Given the description of an element on the screen output the (x, y) to click on. 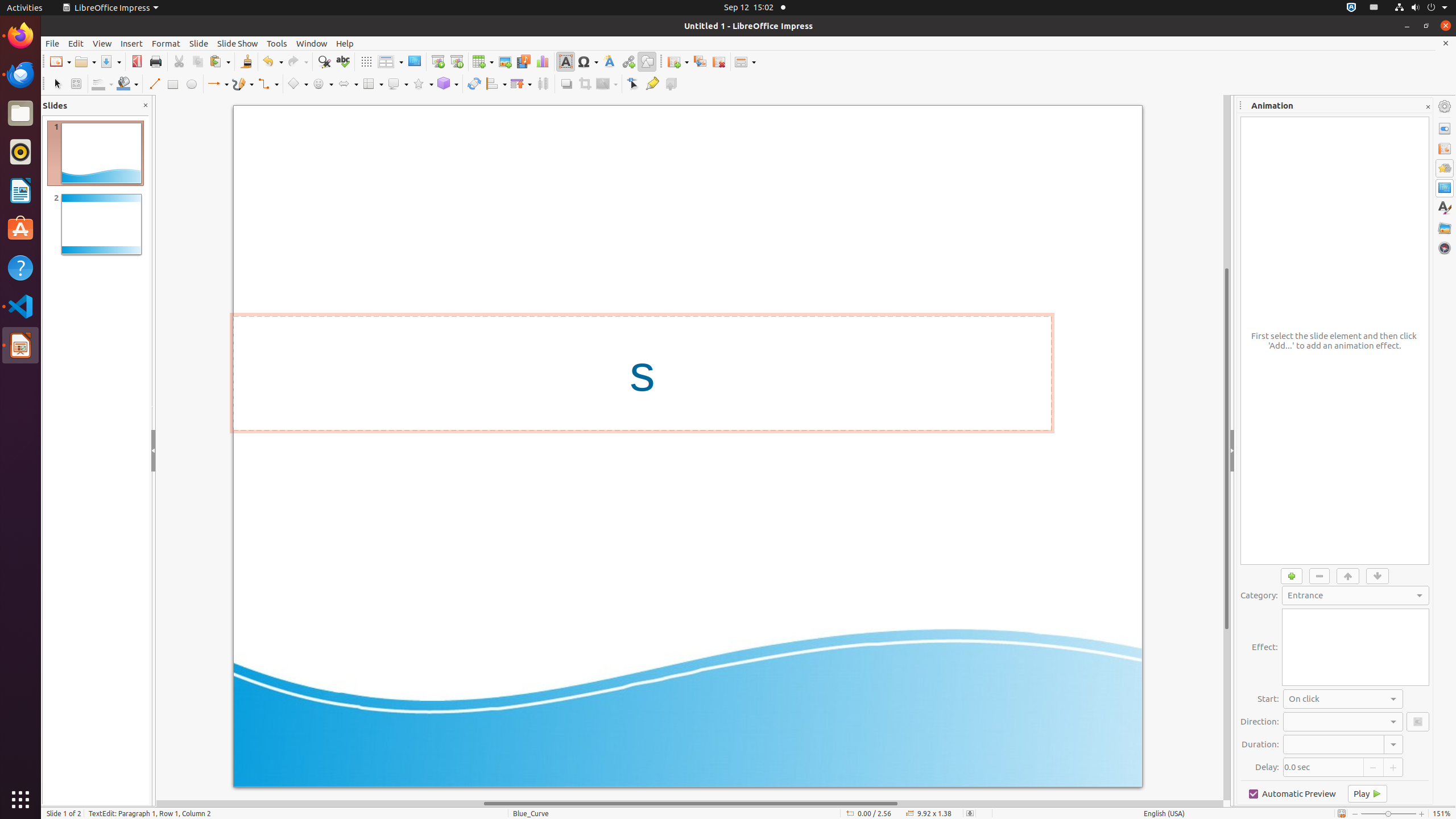
Basic Shapes Element type: push-button (296, 83)
Media Element type: push-button (523, 61)
